Given the description of an element on the screen output the (x, y) to click on. 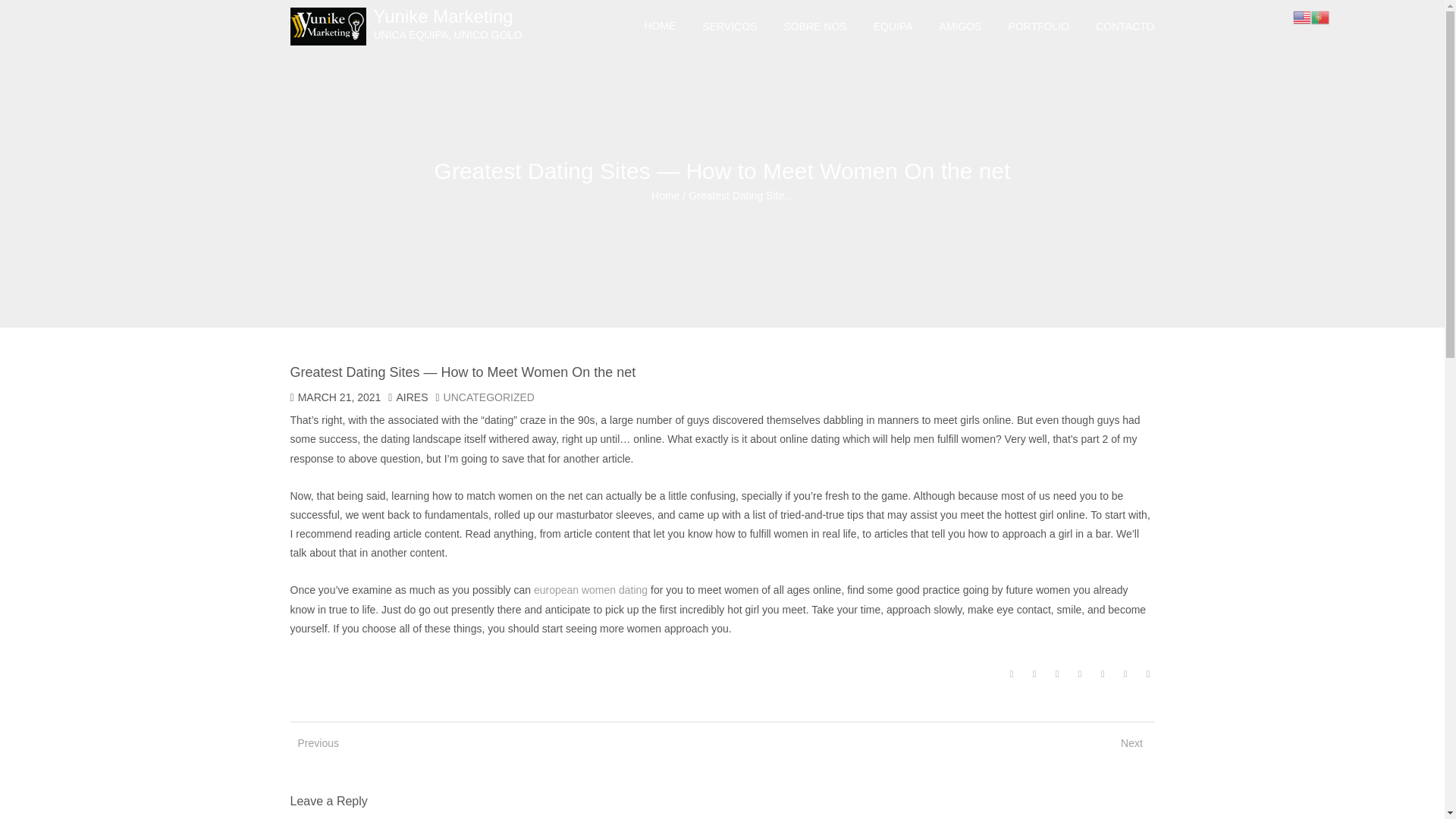
CONTACTO (1125, 27)
Yunike Marketing (446, 23)
PORTFOLIO (1039, 27)
Portuguese (1320, 16)
Yunike Marketing (664, 195)
English (1301, 16)
